Given the description of an element on the screen output the (x, y) to click on. 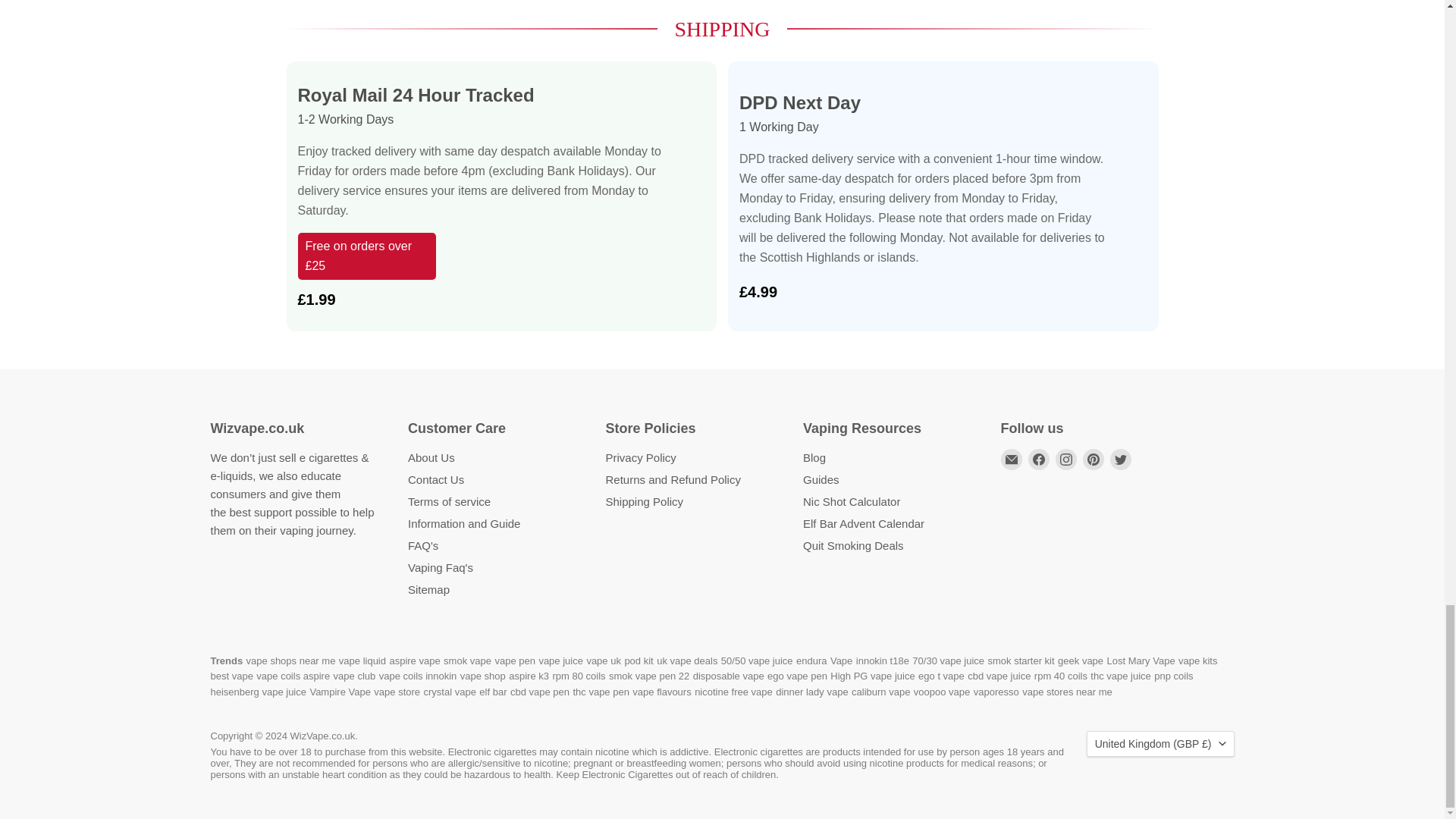
E-mail (1011, 459)
Instagram (1066, 459)
Twitter (1120, 459)
Facebook (1038, 459)
Pinterest (1093, 459)
